Given the description of an element on the screen output the (x, y) to click on. 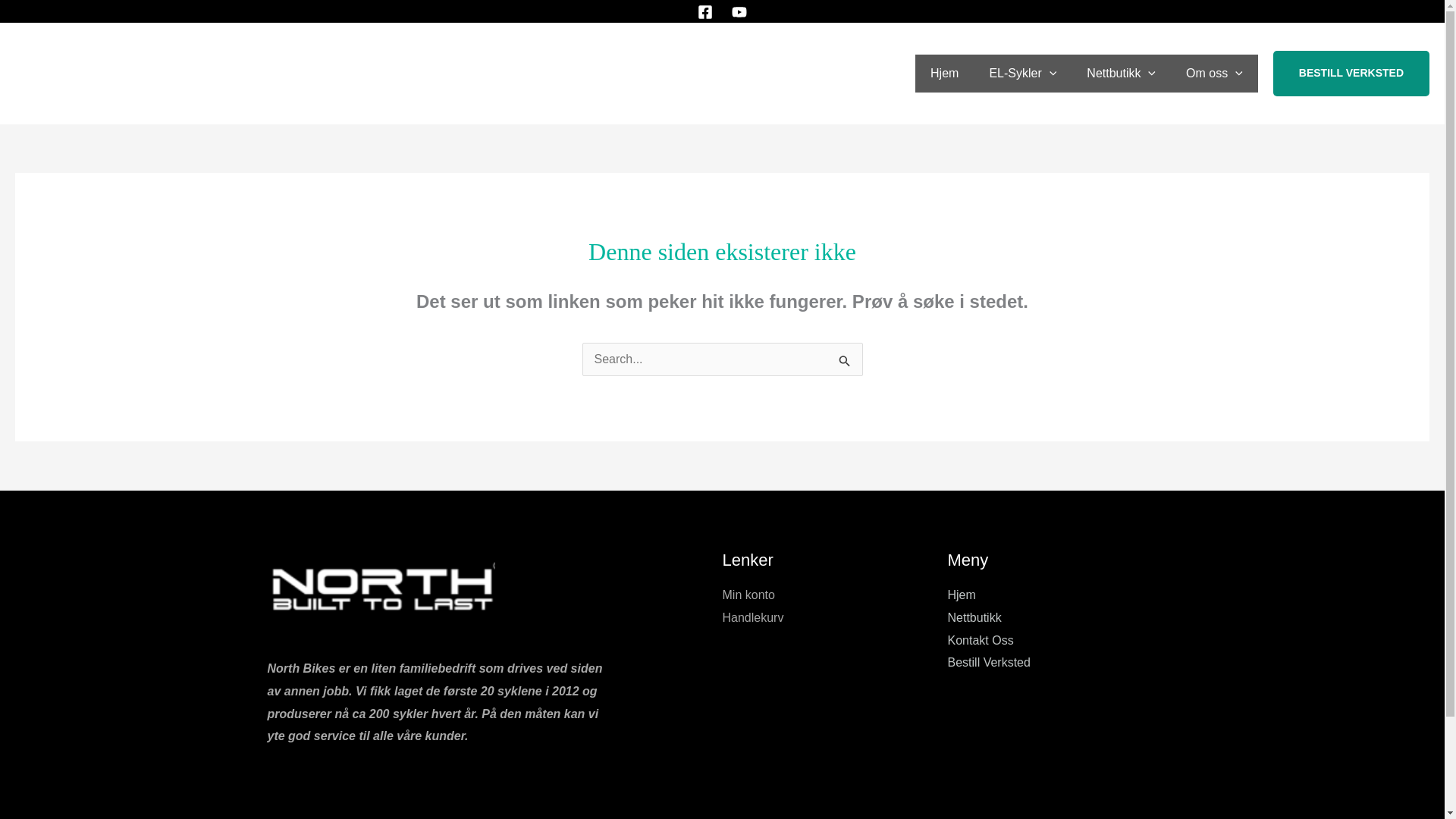
EL-Sykler (1022, 73)
Nettbutikk (1120, 73)
BESTILL VERKSTED (1350, 73)
Hjem (944, 73)
Om oss (1213, 73)
